Given the description of an element on the screen output the (x, y) to click on. 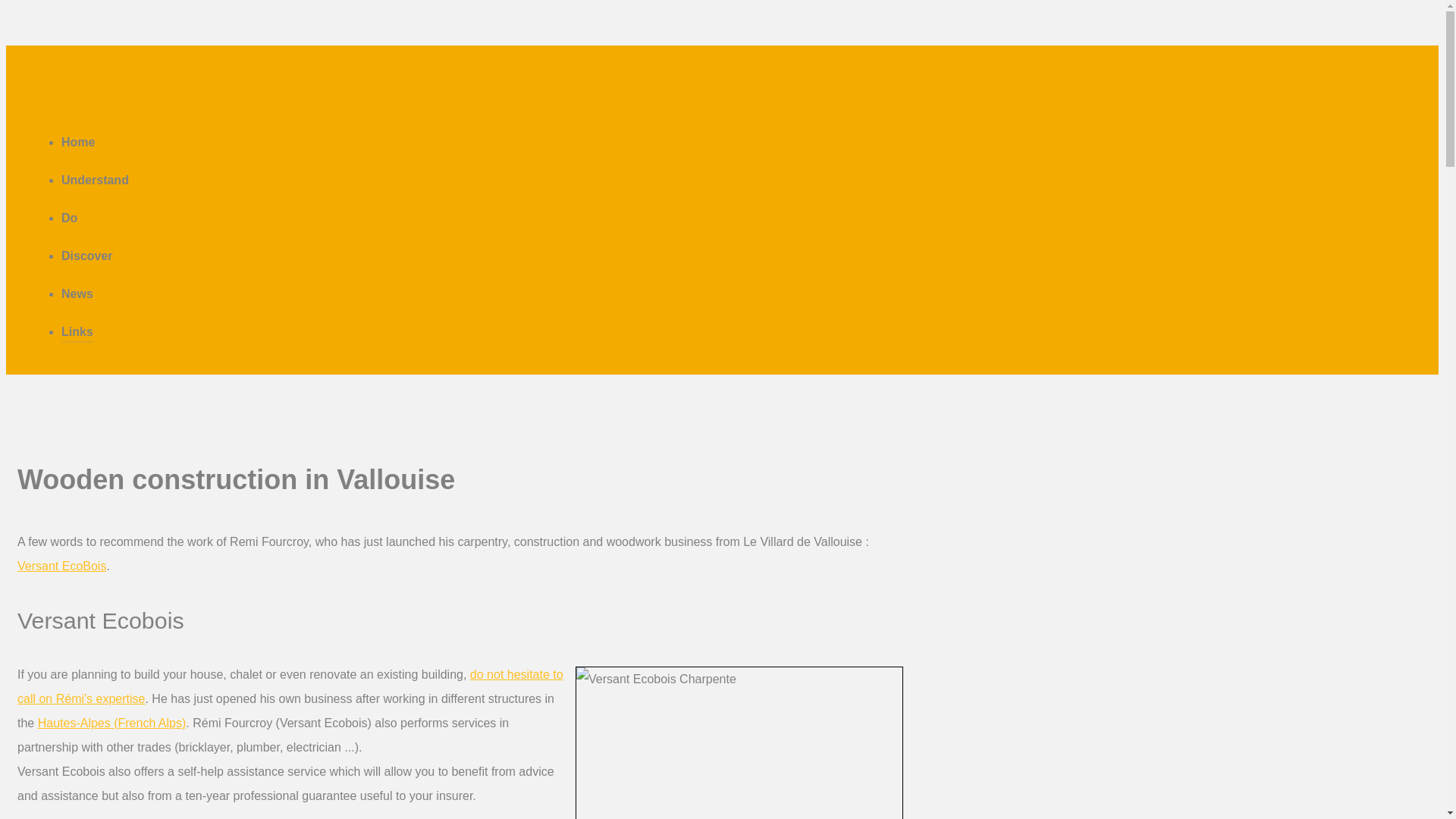
Good addresses in the French Alps (77, 331)
Discover (87, 255)
Versant EcoBois (61, 565)
News (77, 293)
Travaux Bois Vallouise (61, 565)
Links (77, 331)
Understand (95, 179)
Home (77, 141)
Alps 05 (111, 722)
Wood worker (290, 686)
